Given the description of an element on the screen output the (x, y) to click on. 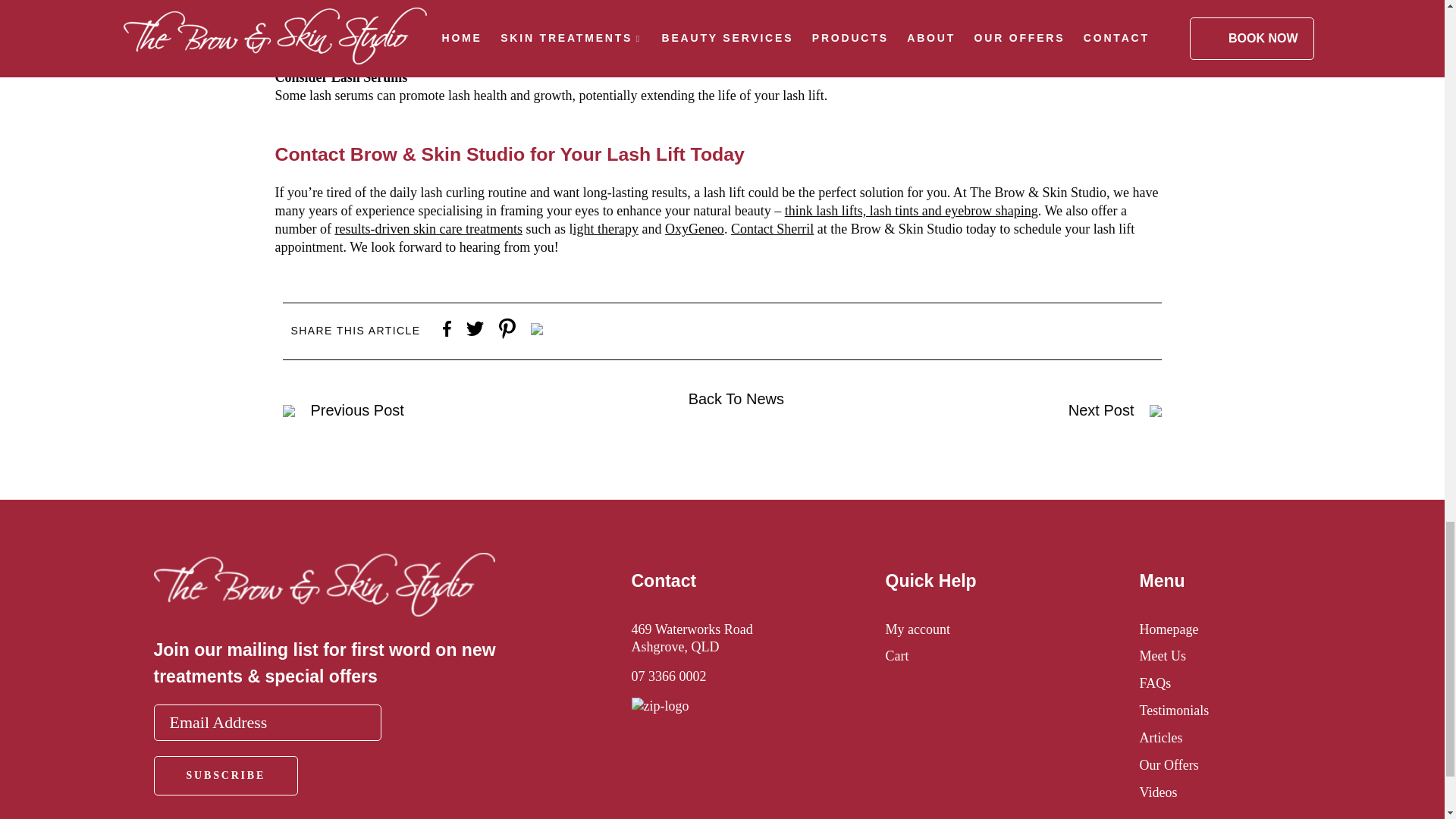
07 3366 0002 (668, 676)
Contact Sherril (771, 228)
results-driven skin care treatments (427, 228)
Back To News (735, 399)
Articles (1160, 737)
Cart (896, 655)
Our Offers (1168, 765)
Back to homepage (323, 611)
Meet Us (1162, 655)
Homepage (1168, 629)
